Given the description of an element on the screen output the (x, y) to click on. 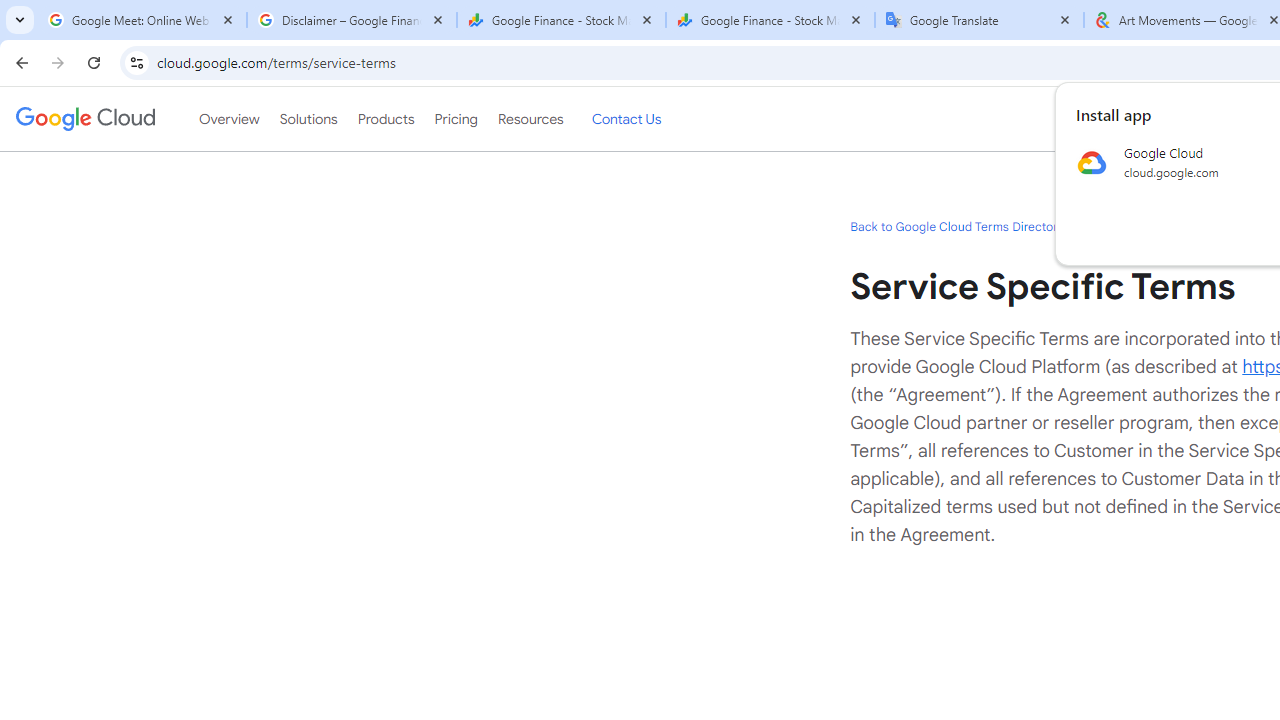
Back to Google Cloud Terms Directory (956, 226)
Contact Us (626, 119)
Google Translate (979, 20)
Google Cloud (84, 118)
Resources (530, 119)
